Given the description of an element on the screen output the (x, y) to click on. 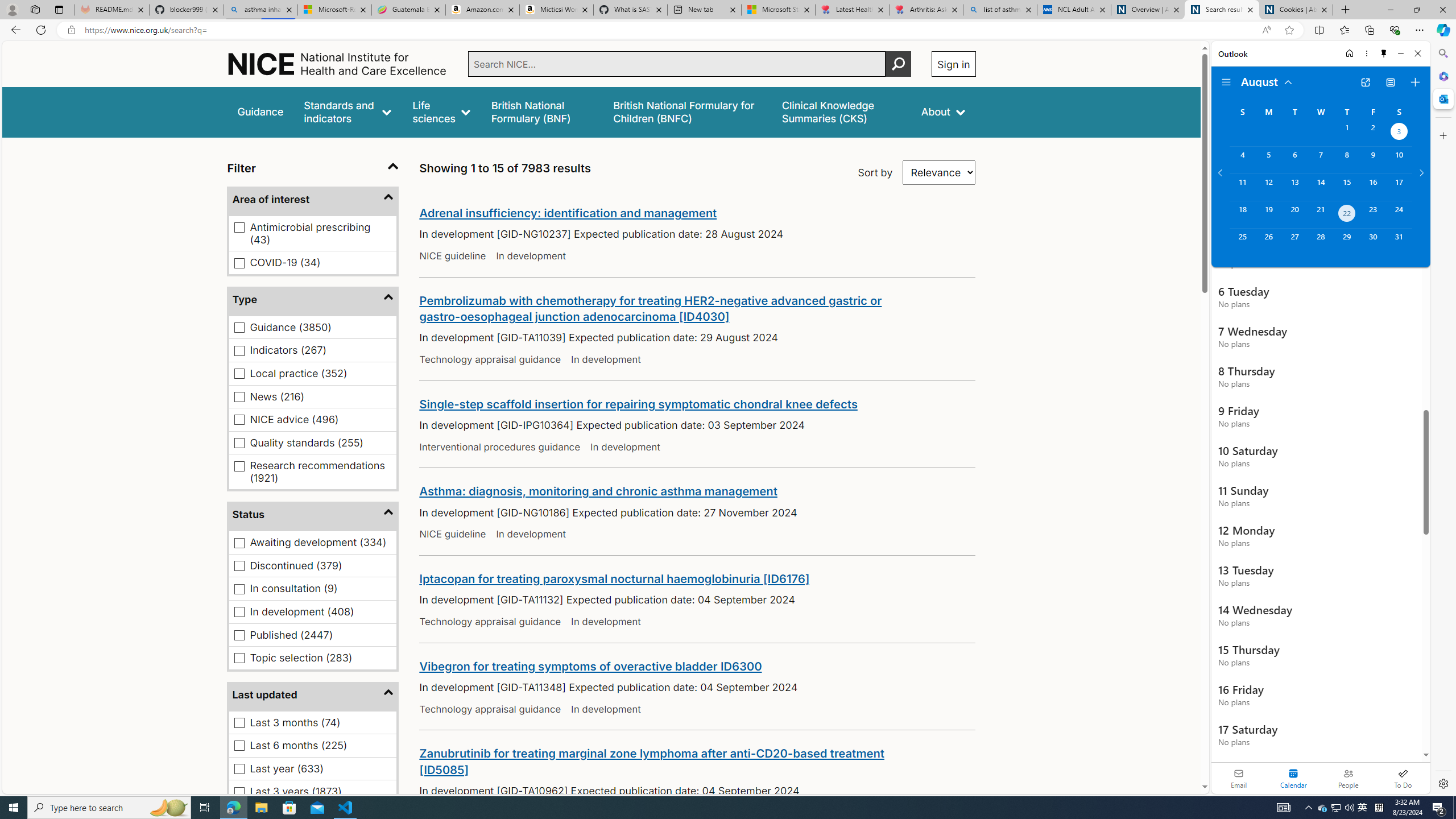
Area of interest (312, 199)
Tuesday, August 27, 2024.  (1294, 241)
Monday, August 26, 2024.  (1268, 241)
Cookies | About | NICE (1295, 9)
false (841, 111)
Friday, August 16, 2024.  (1372, 186)
Type (312, 299)
Saturday, August 10, 2024.  (1399, 159)
Sunday, August 4, 2024.  (1242, 159)
Published (2447) (239, 634)
